Given the description of an element on the screen output the (x, y) to click on. 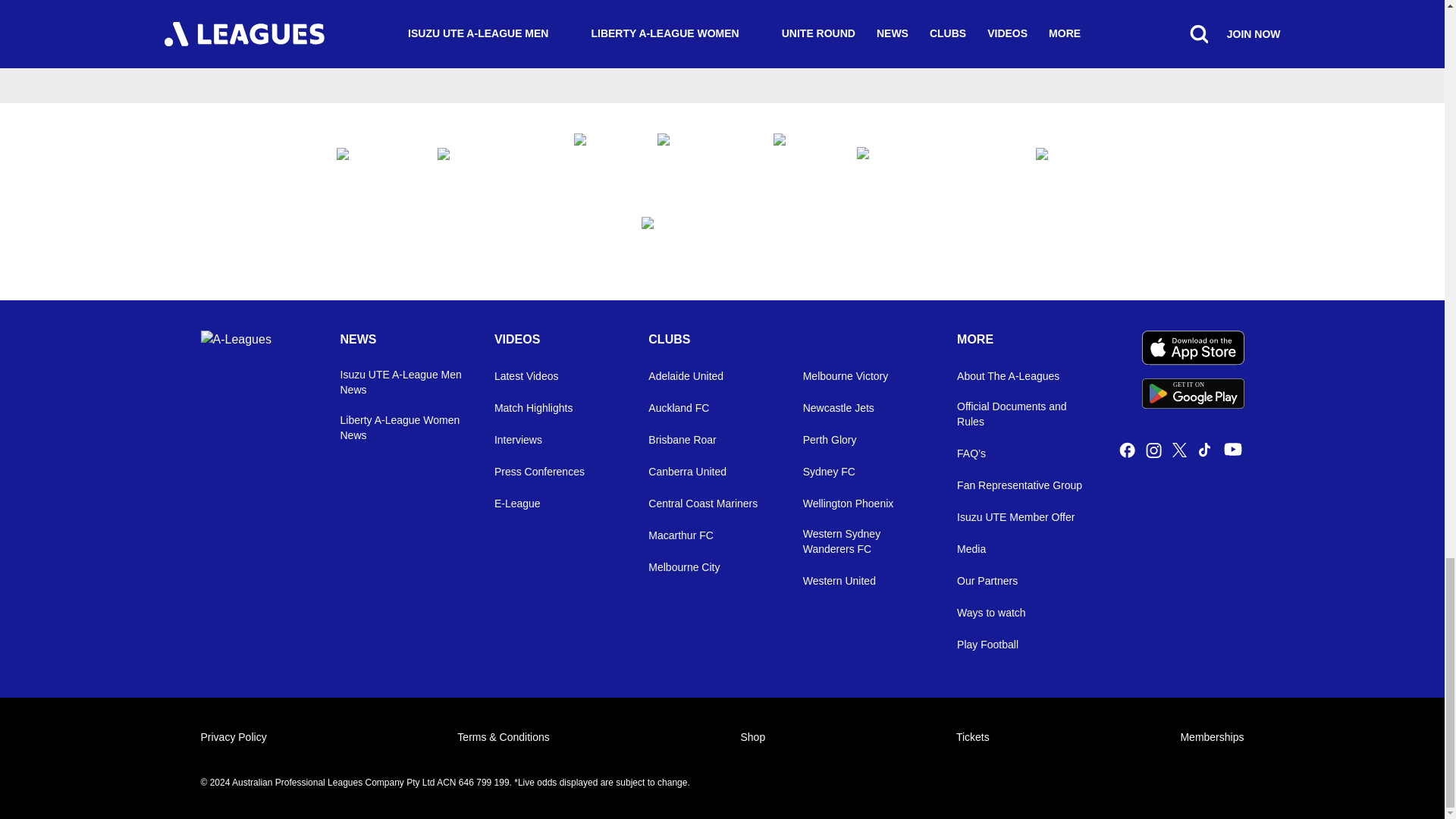
IHG (1192, 392)
McDonalds (931, 159)
Paramount (800, 159)
Isuzu UTE (699, 159)
Channel 10 (371, 159)
eToro (599, 159)
Mitre (1071, 159)
Liberty (722, 243)
